Given the description of an element on the screen output the (x, y) to click on. 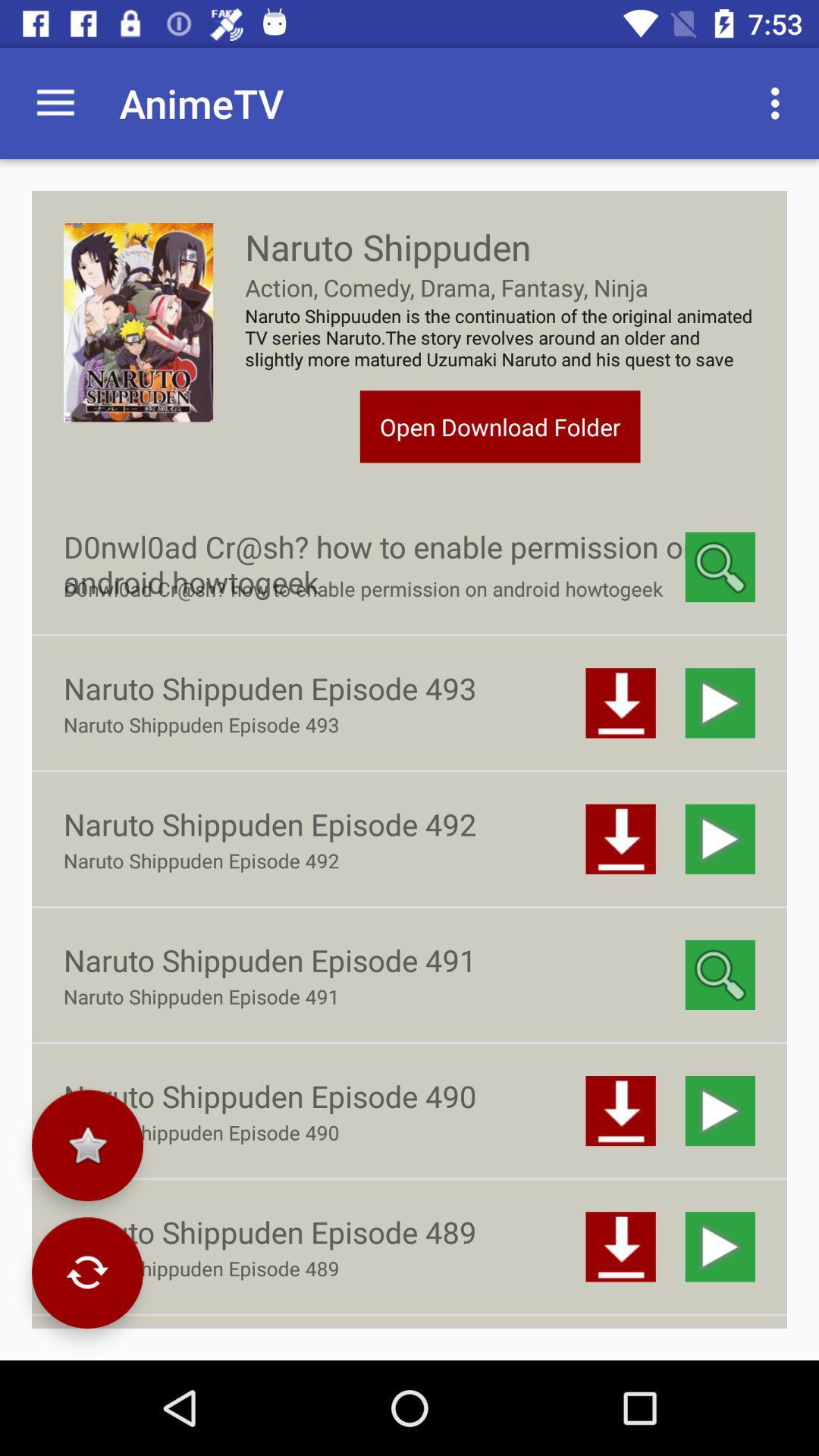
launch icon above naruto shippuden episode icon (87, 1145)
